Given the description of an element on the screen output the (x, y) to click on. 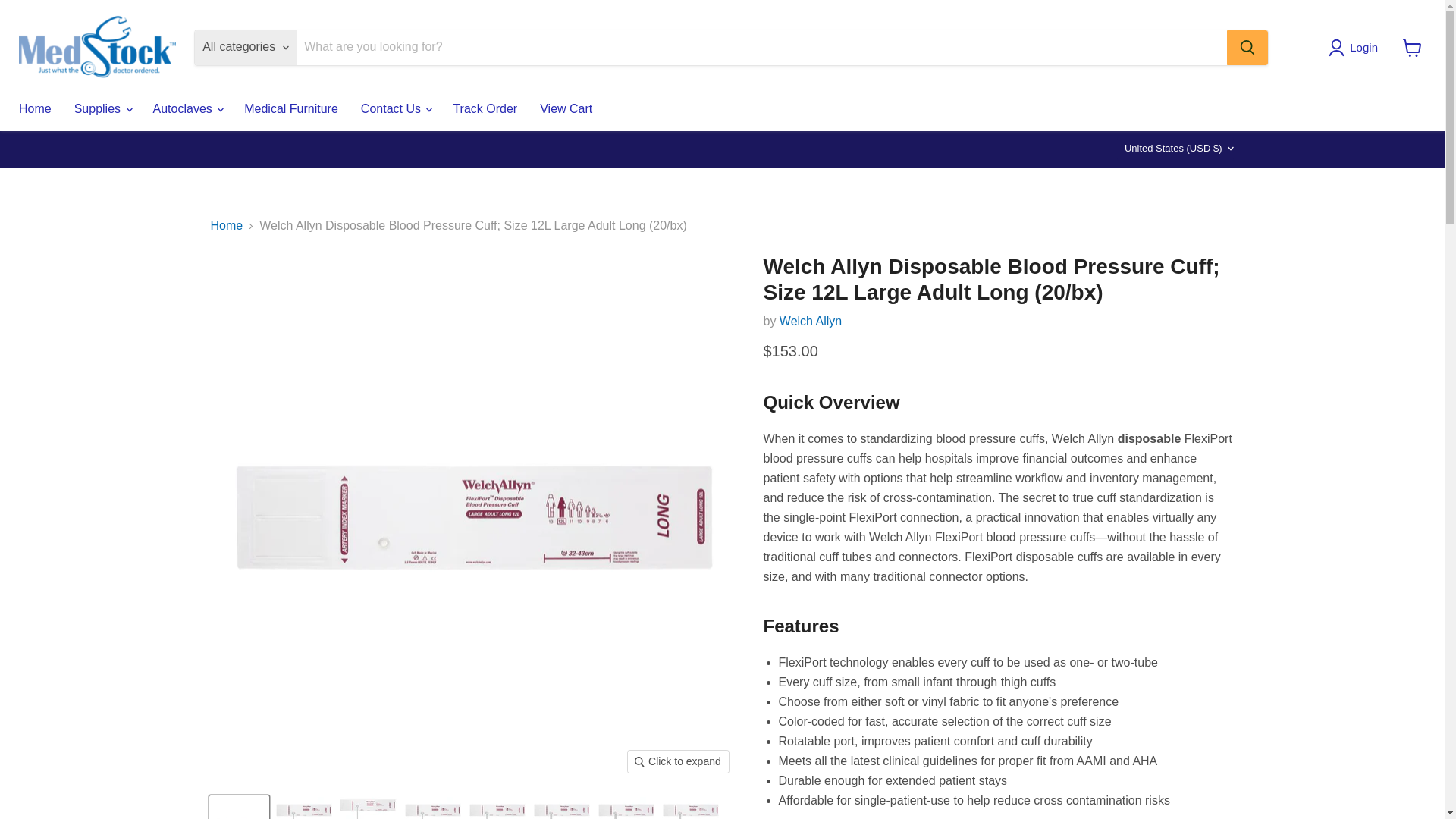
Login (1355, 47)
Medical Furniture (290, 109)
View cart (1411, 46)
Home (34, 109)
Track Order (484, 109)
View Cart (566, 109)
Welch Allyn (809, 320)
